Given the description of an element on the screen output the (x, y) to click on. 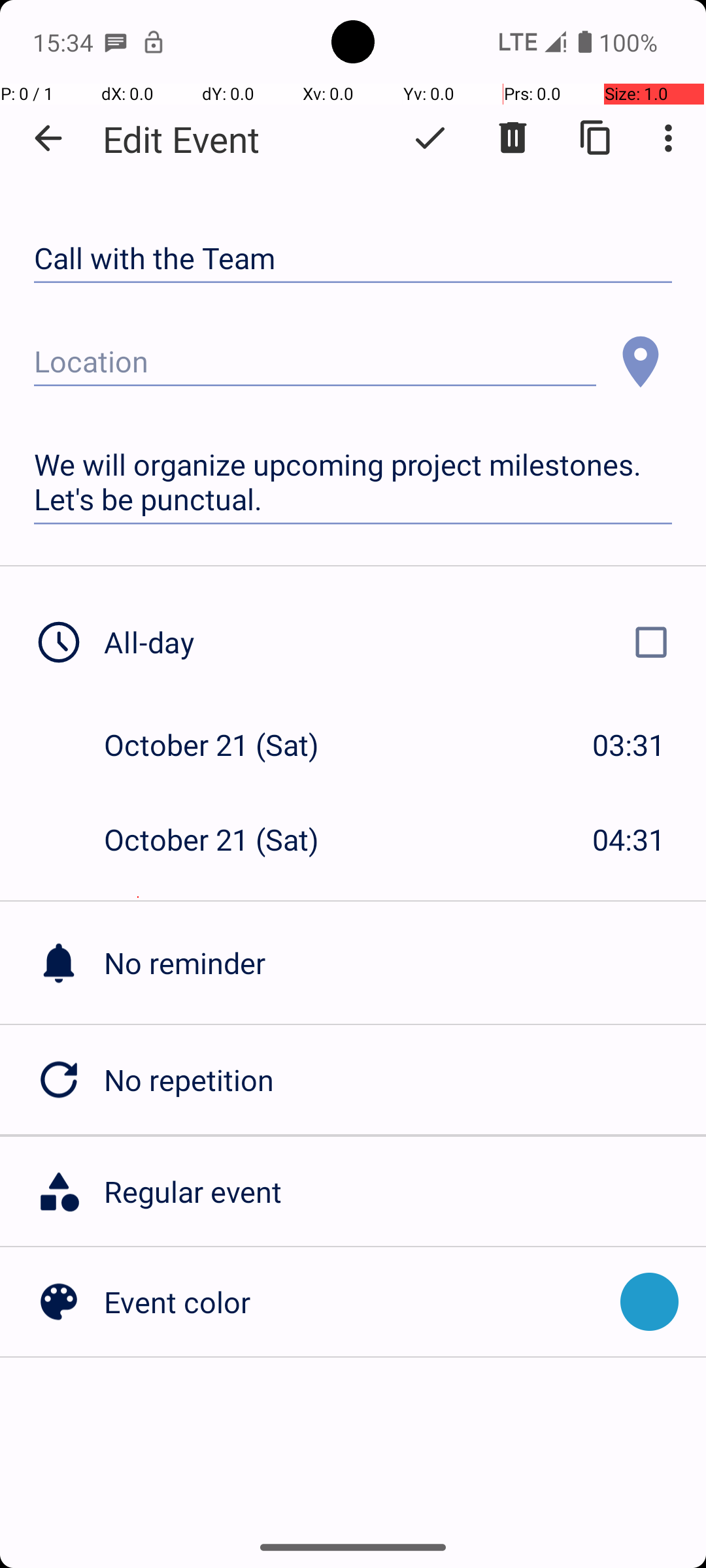
We will organize upcoming project milestones. Let's be punctual. Element type: android.widget.EditText (352, 482)
October 21 (Sat) Element type: android.widget.TextView (224, 744)
03:31 Element type: android.widget.TextView (628, 744)
04:31 Element type: android.widget.TextView (628, 838)
